Given the description of an element on the screen output the (x, y) to click on. 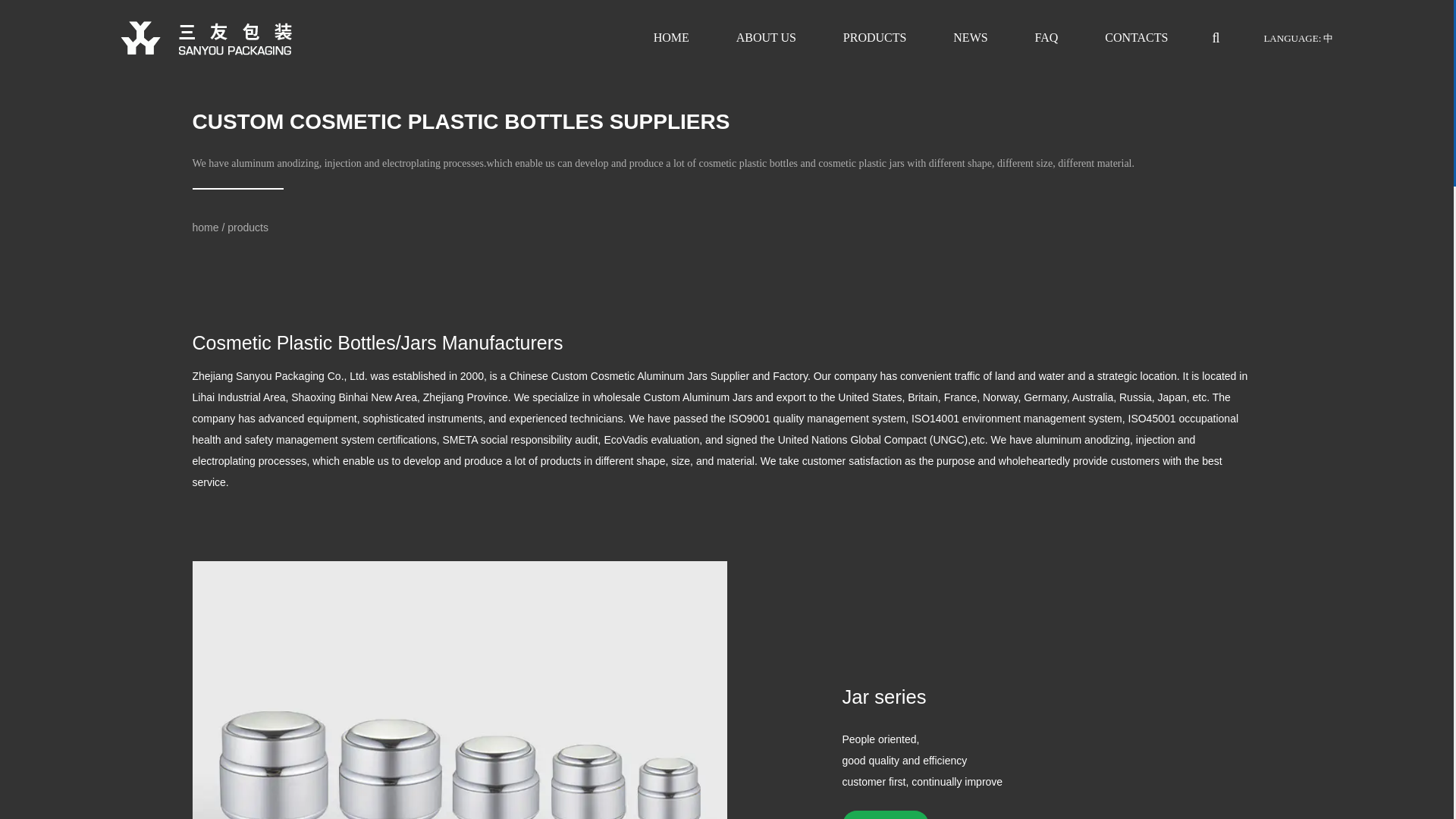
ABOUT US (766, 37)
NEWS (970, 37)
HOME (670, 37)
PRODUCTS (875, 37)
